Given the description of an element on the screen output the (x, y) to click on. 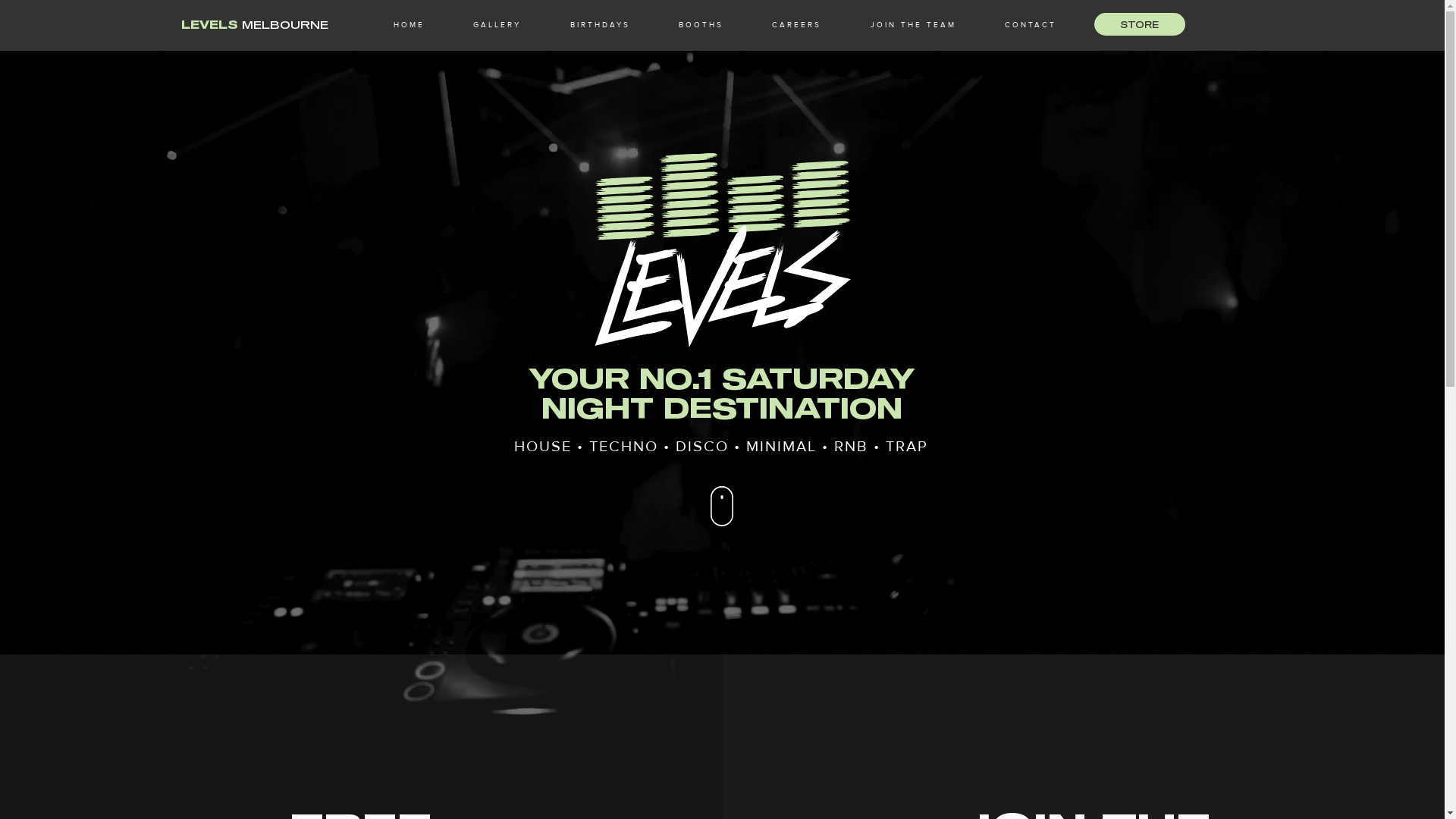
LEVELS MELBOURNE Element type: text (254, 23)
CONTACT Element type: text (1030, 24)
JOIN THE TEAM Element type: text (913, 24)
BOOTHS Element type: text (700, 24)
STORE Element type: text (1138, 23)
CAREERS Element type: text (796, 24)
BIRTHDAYS Element type: text (599, 24)
GALLERY Element type: text (496, 24)
HOME Element type: text (408, 24)
